Given the description of an element on the screen output the (x, y) to click on. 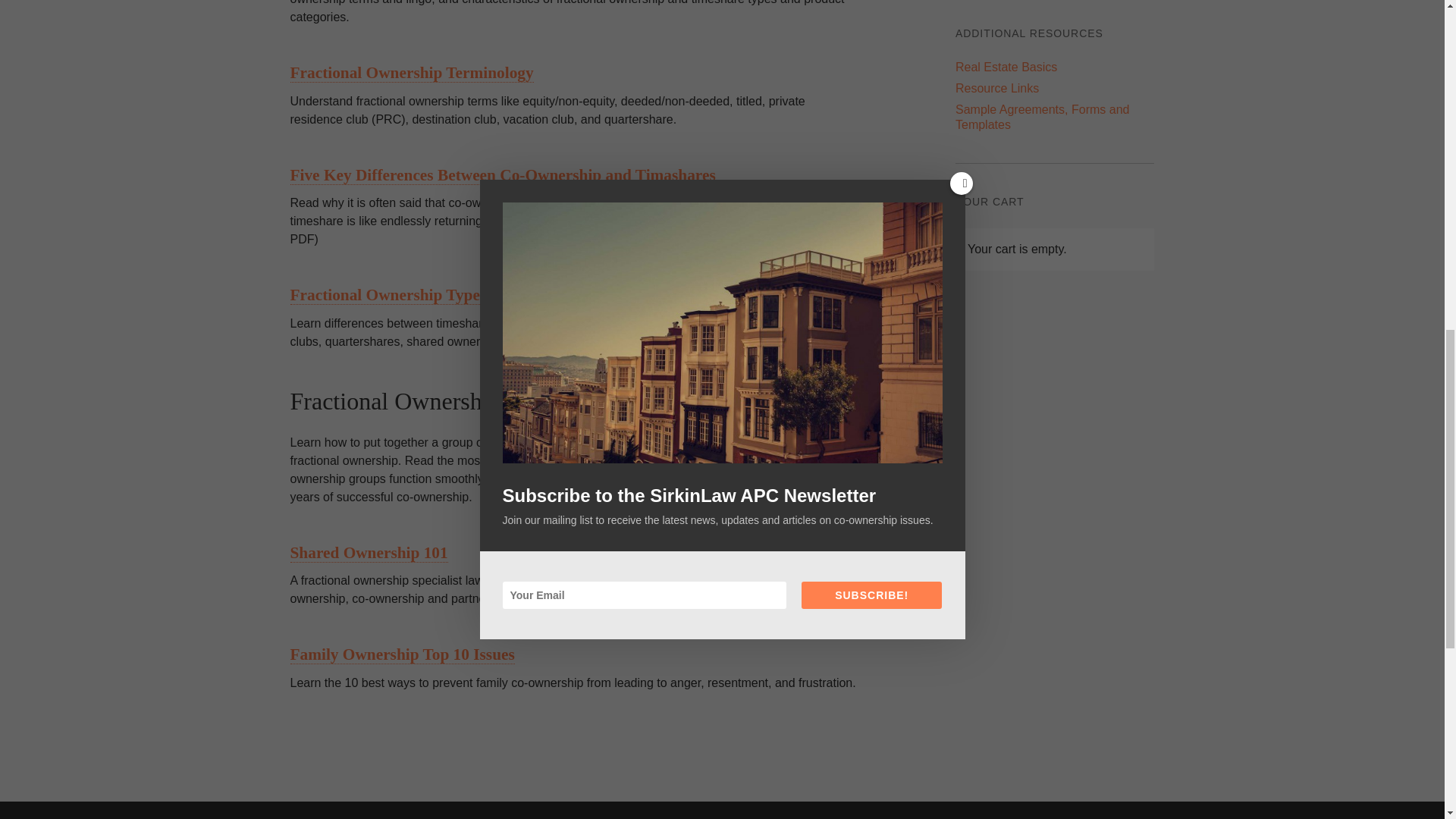
Fractional Ownership Types (387, 294)
Shared Ownership 101 (367, 552)
Five Key Differences Between Co-Ownership and Timashares (501, 175)
Family Ownership Top 10 Issues (401, 654)
Fractional Ownership Terminology (410, 72)
